Given the description of an element on the screen output the (x, y) to click on. 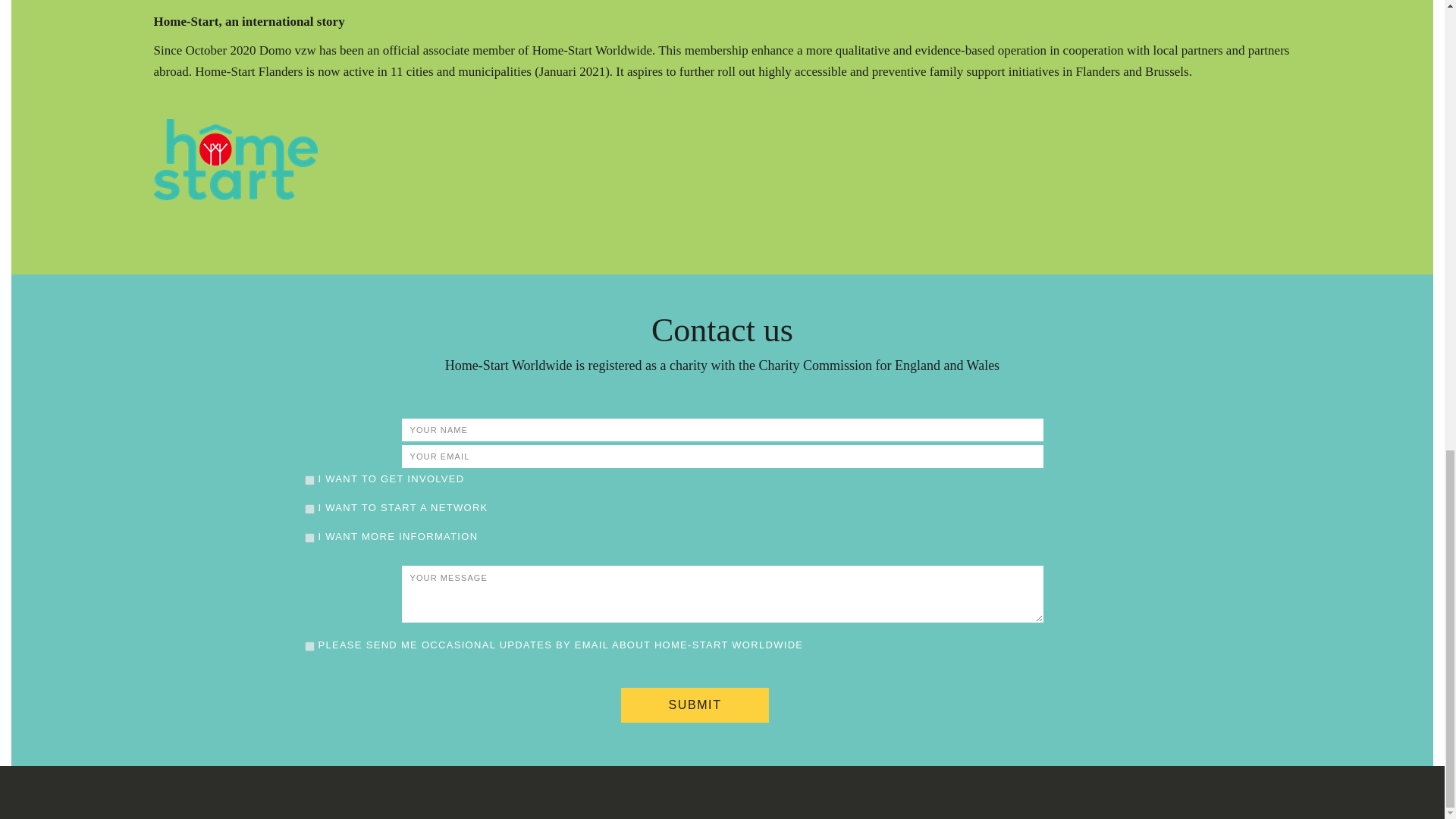
I WANT TO GET INVOLVED (309, 480)
Submit (694, 704)
I WANT MORE INFORMATION (309, 537)
Submit (694, 704)
I WANT TO START A NETWORK (309, 509)
